Given the description of an element on the screen output the (x, y) to click on. 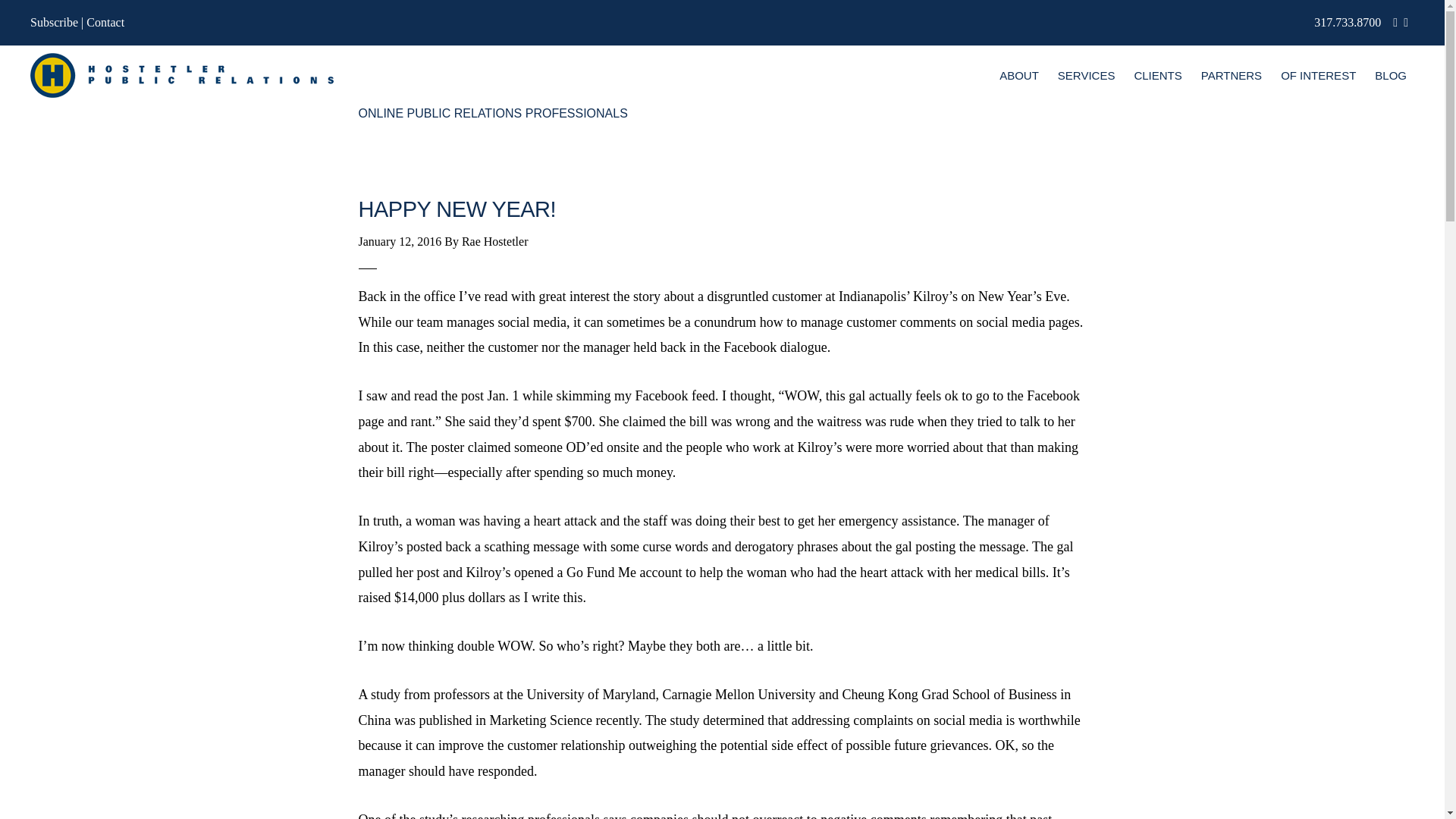
ABOUT (1018, 75)
PARTNERS (1231, 75)
BLOG (1390, 75)
HAPPY NEW YEAR! (457, 209)
SERVICES (1085, 75)
OF INTEREST (1317, 75)
Contact (104, 21)
Subscribe (54, 21)
Rae Hostetler (494, 241)
